Given the description of an element on the screen output the (x, y) to click on. 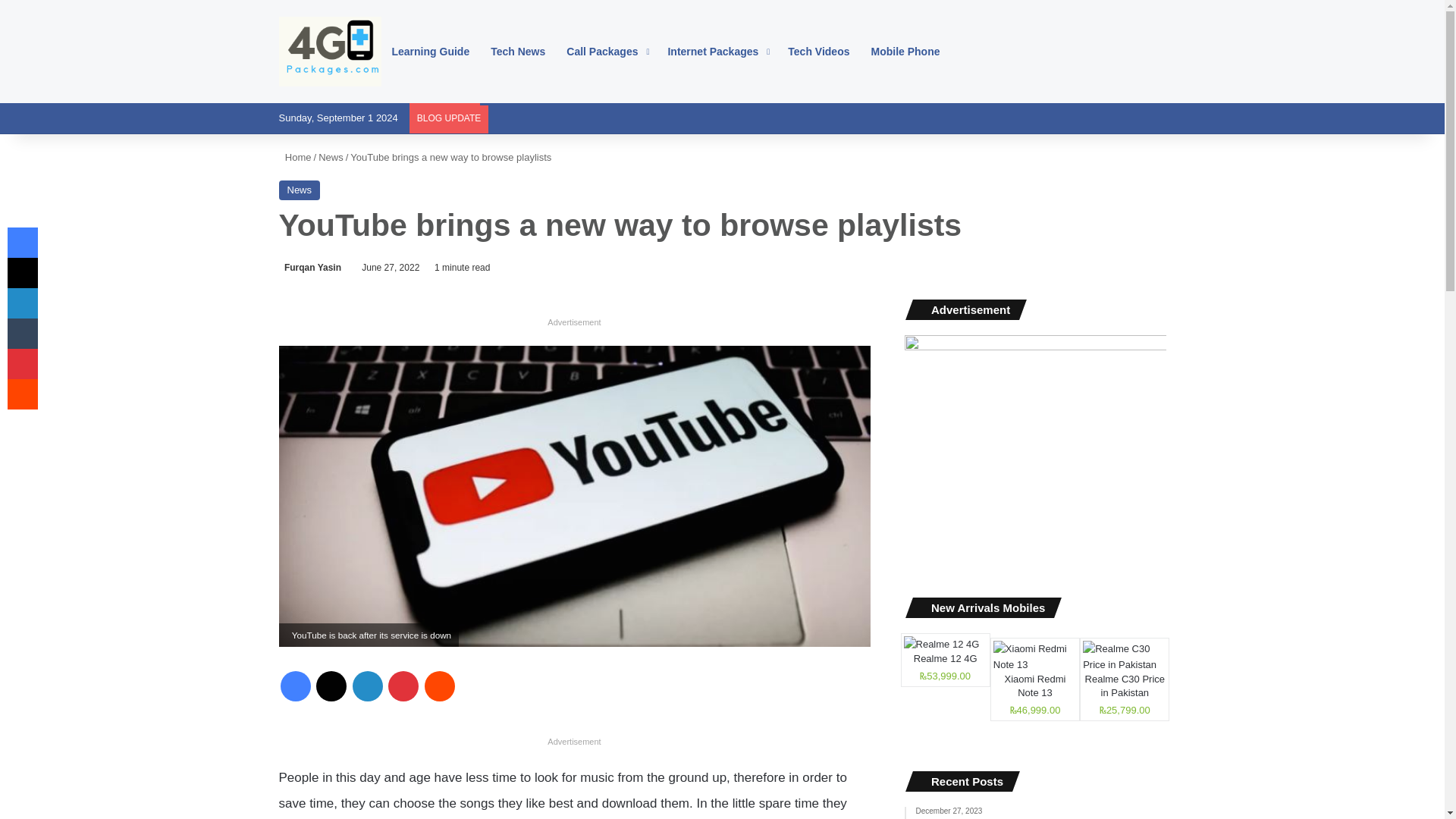
Reddit (439, 685)
LinkedIn (367, 685)
Reddit (439, 685)
Furqan Yasin (310, 267)
Furqan Yasin (310, 267)
X (330, 685)
Facebook (296, 685)
News (299, 189)
Home (295, 156)
Pinterest (403, 685)
